Given the description of an element on the screen output the (x, y) to click on. 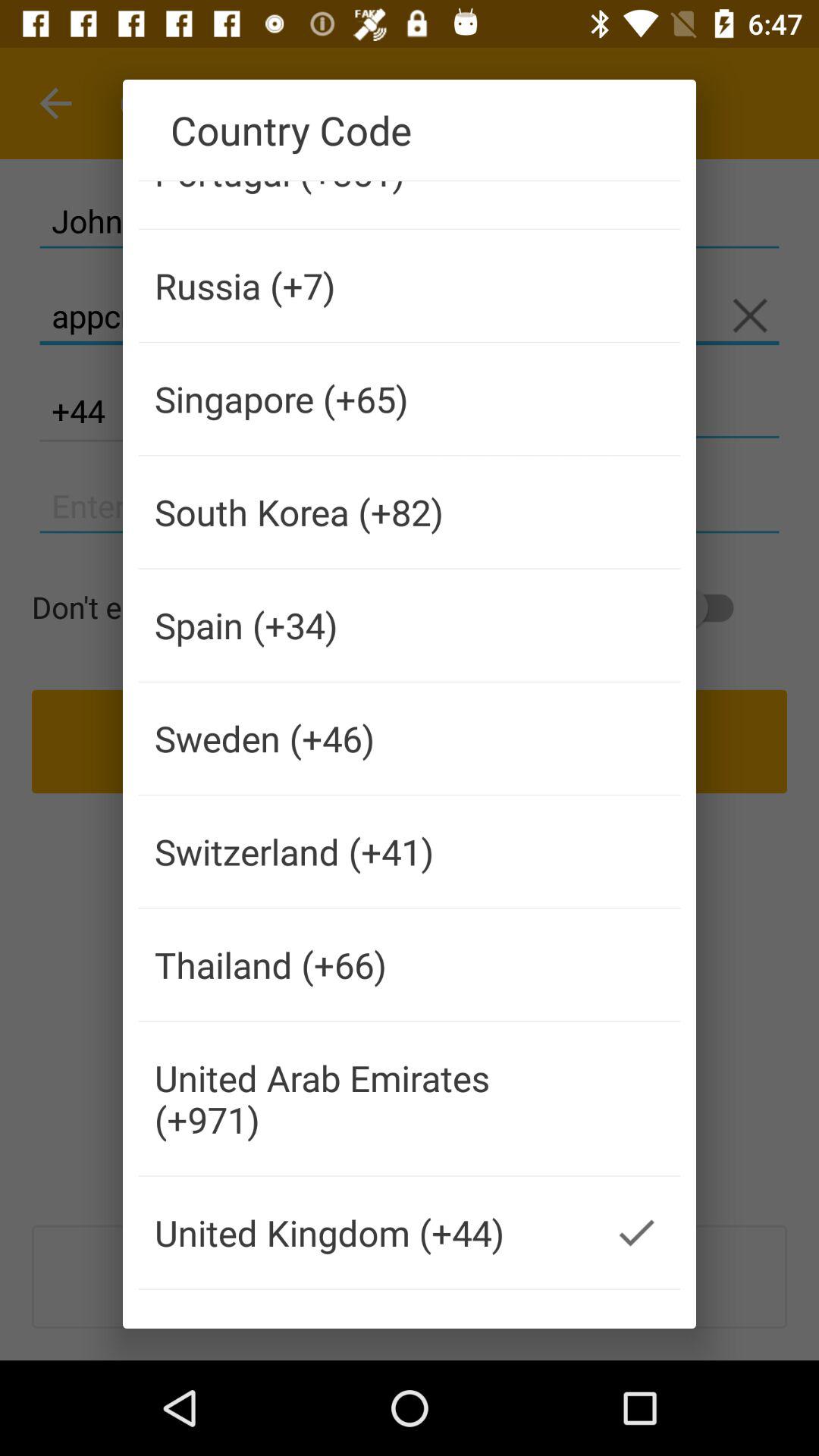
tap the item above russia (+7) (365, 204)
